Given the description of an element on the screen output the (x, y) to click on. 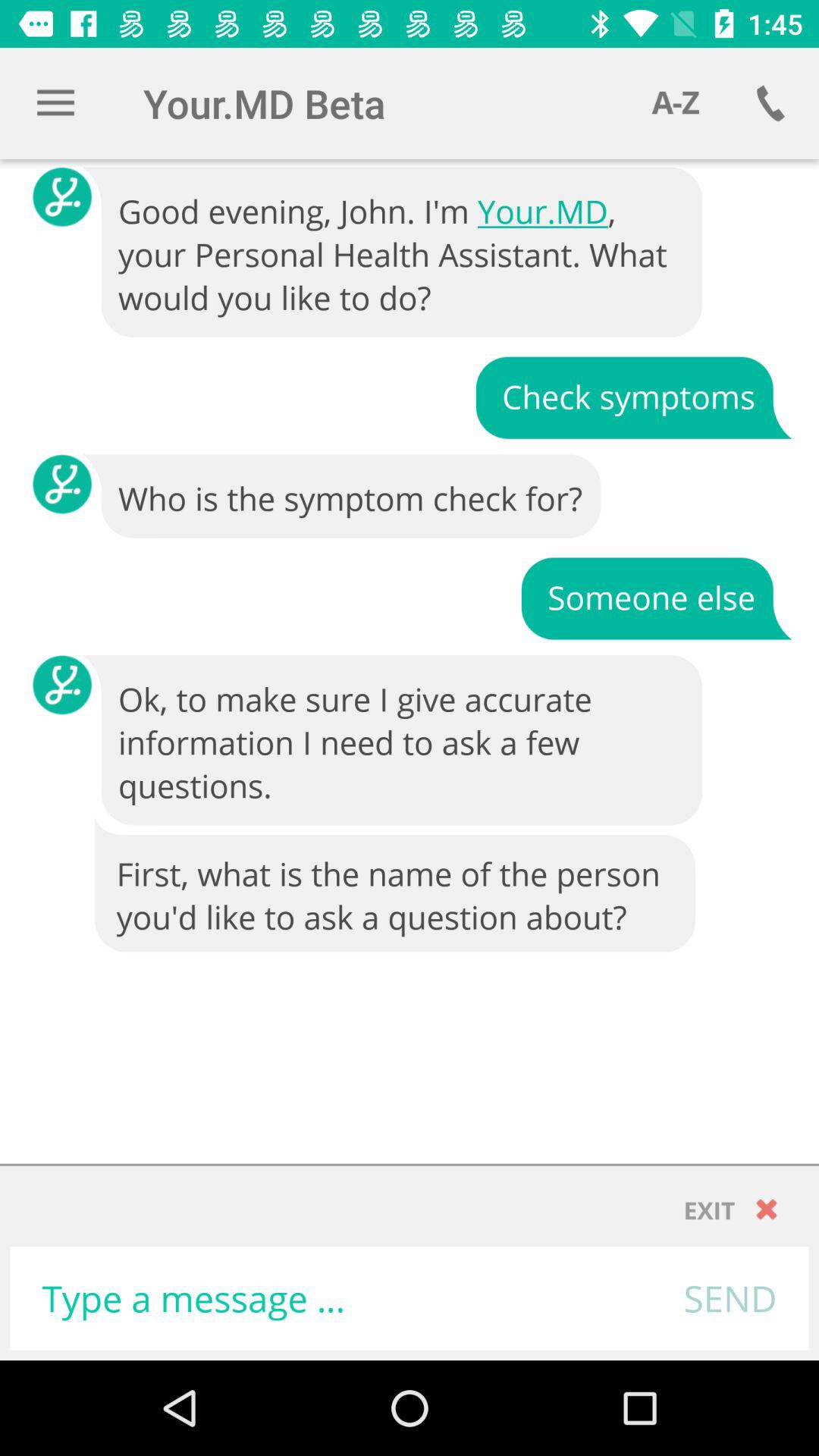
launch item on the right (656, 597)
